Given the description of an element on the screen output the (x, y) to click on. 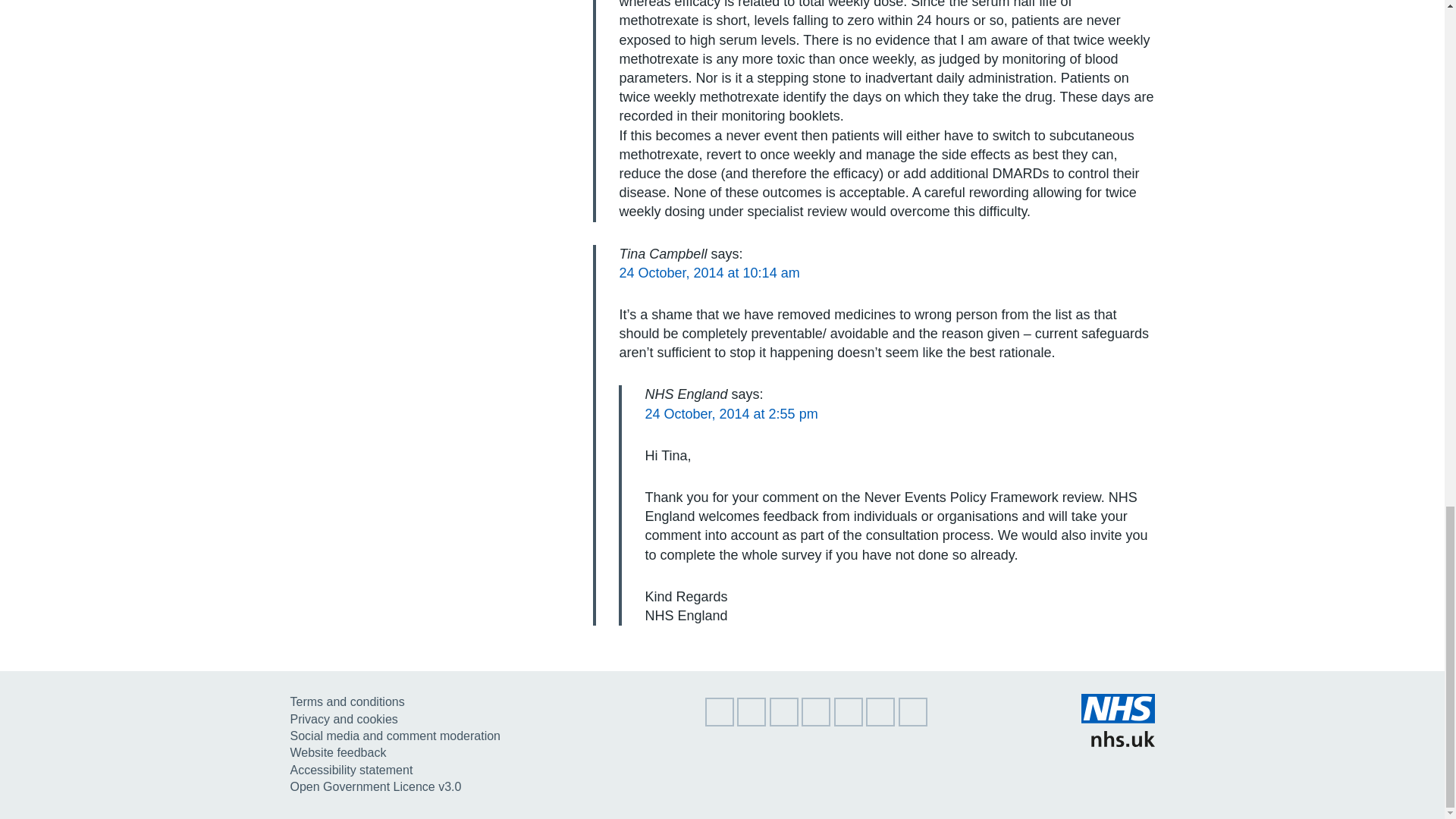
Terms and conditions (346, 701)
Website feedback (337, 752)
Social media and comment moderation (394, 735)
Privacy and cookies (343, 718)
Follow us on Facebook (783, 721)
24 October, 2014 at 10:14 am (708, 272)
Accessibility statement (350, 769)
Social media and comment moderation (394, 735)
Open Government Licence v3.0 (375, 786)
24 October, 2014 at 2:55 pm (730, 413)
